Given the description of an element on the screen output the (x, y) to click on. 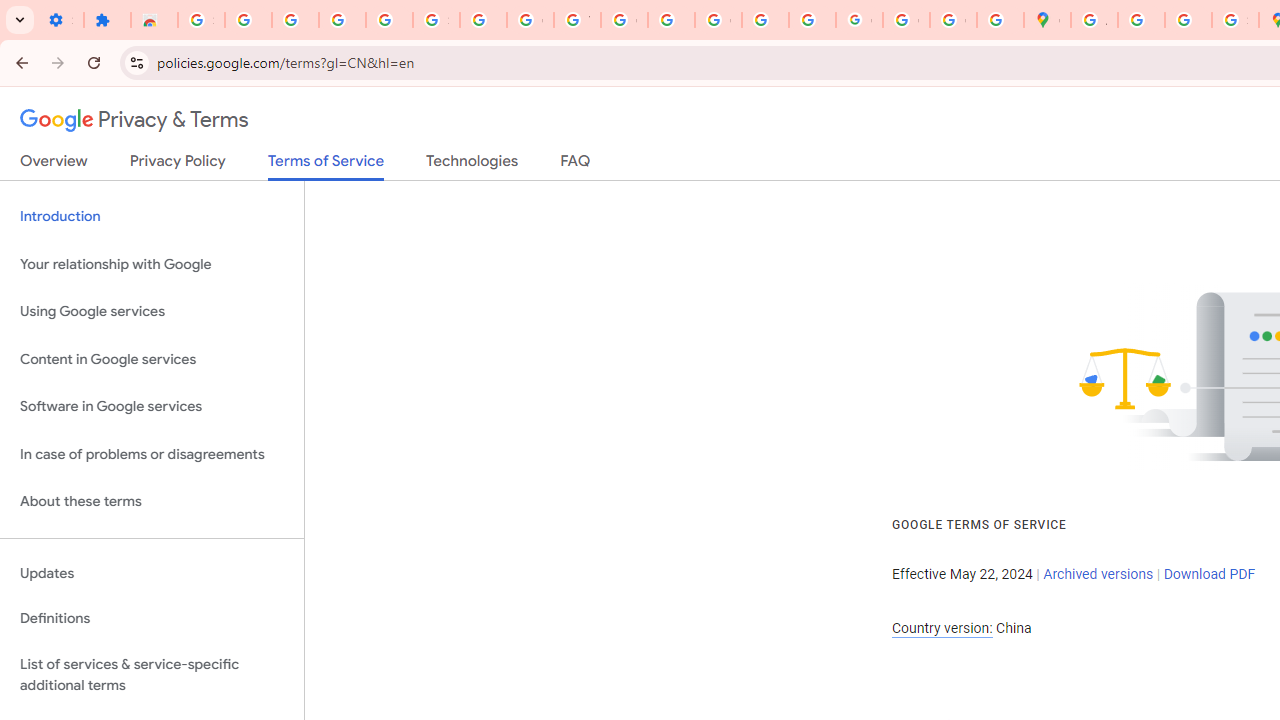
Definitions (152, 619)
Reviews: Helix Fruit Jump Arcade Game (153, 20)
Sign in - Google Accounts (201, 20)
List of services & service-specific additional terms (152, 674)
Country version: (942, 628)
Updates (152, 573)
Safety in Our Products - Google Safety Center (1235, 20)
Your relationship with Google (152, 263)
Using Google services (152, 312)
